Given the description of an element on the screen output the (x, y) to click on. 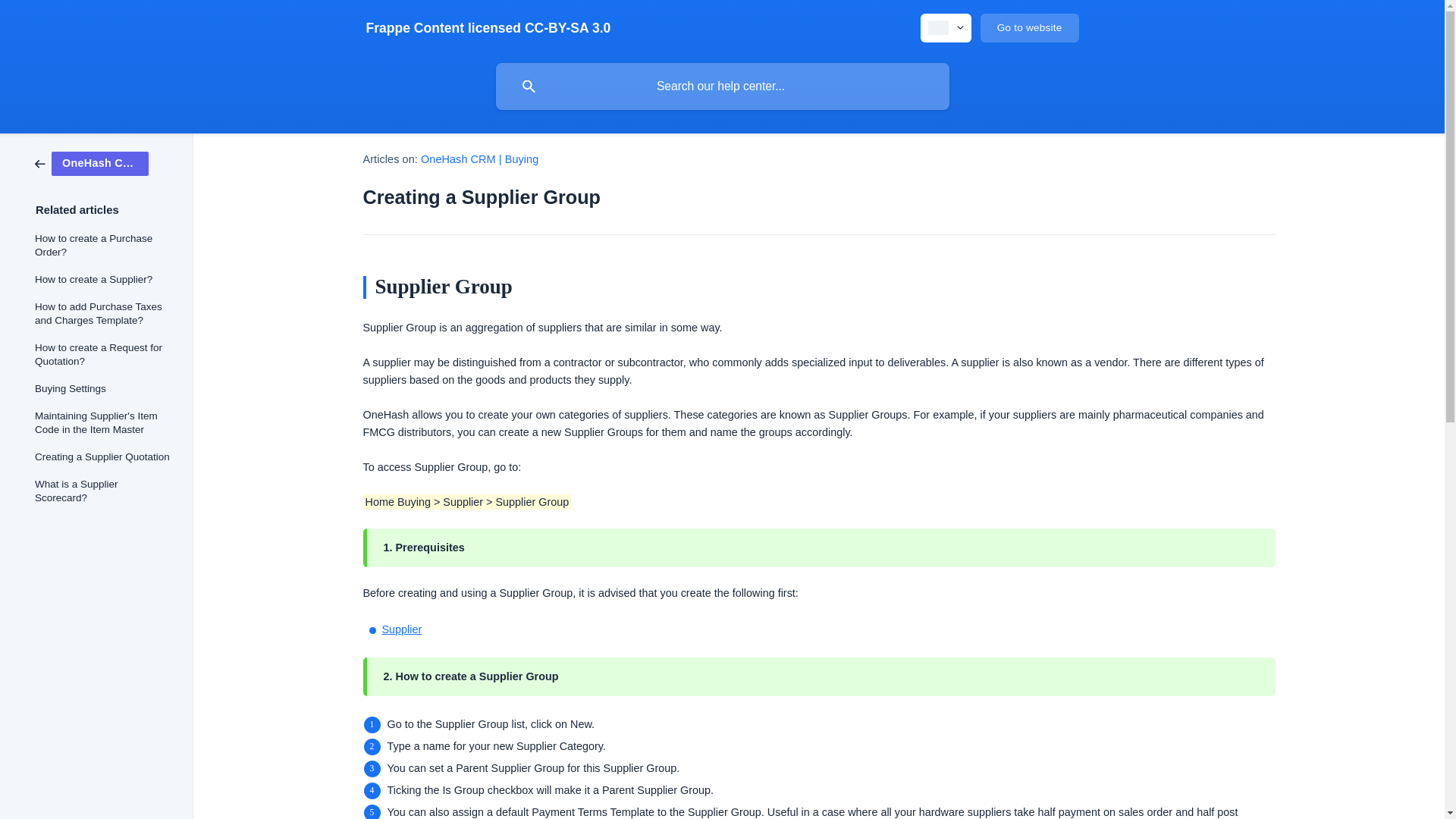
Go to website (1028, 27)
Supplier (401, 629)
How to create a Request for Quotation? (102, 354)
How to add Purchase Taxes and Charges Template? (102, 313)
How to create a Purchase Order? (102, 245)
What is a Supplier Scorecard? (102, 490)
Frappe Content licensed CC-BY-SA 3.0 (487, 27)
Creating a Supplier Quotation (102, 456)
Maintaining Supplier's Item Code in the Item Master (102, 422)
Buying Settings (102, 388)
